Given the description of an element on the screen output the (x, y) to click on. 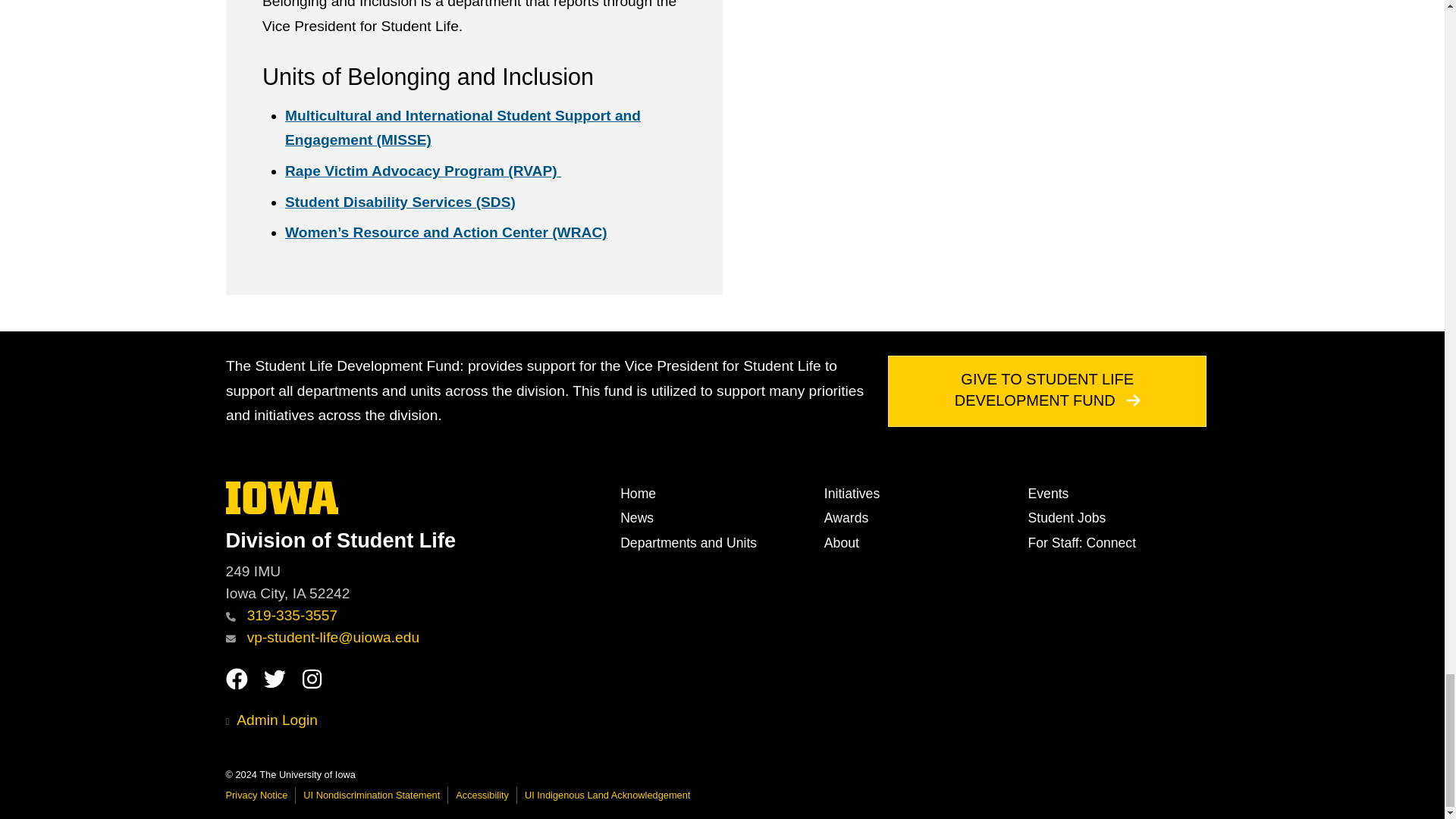
University of Iowa (282, 497)
